Given the description of an element on the screen output the (x, y) to click on. 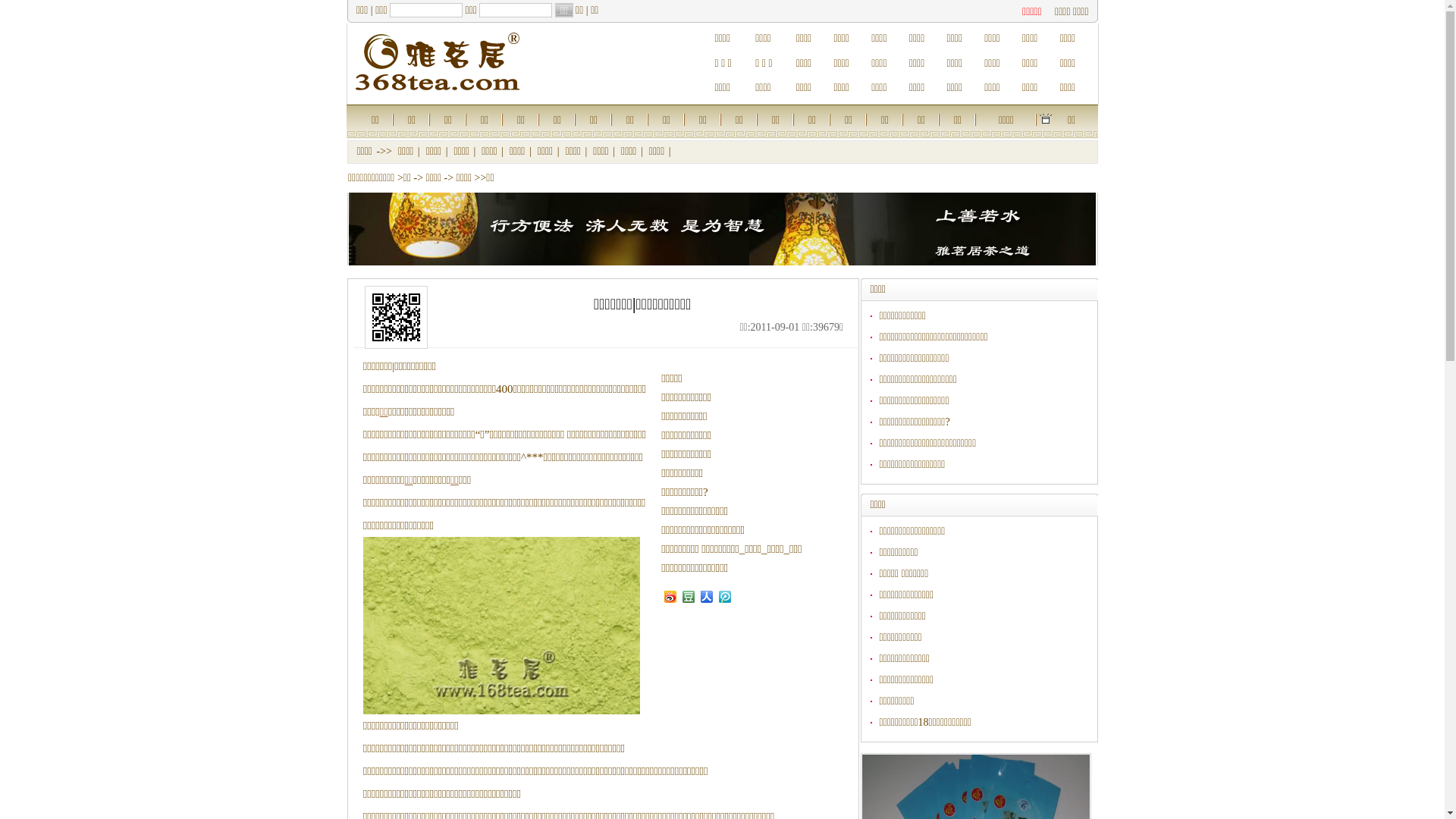
19267 Element type: hover (395, 317)
